Given the description of an element on the screen output the (x, y) to click on. 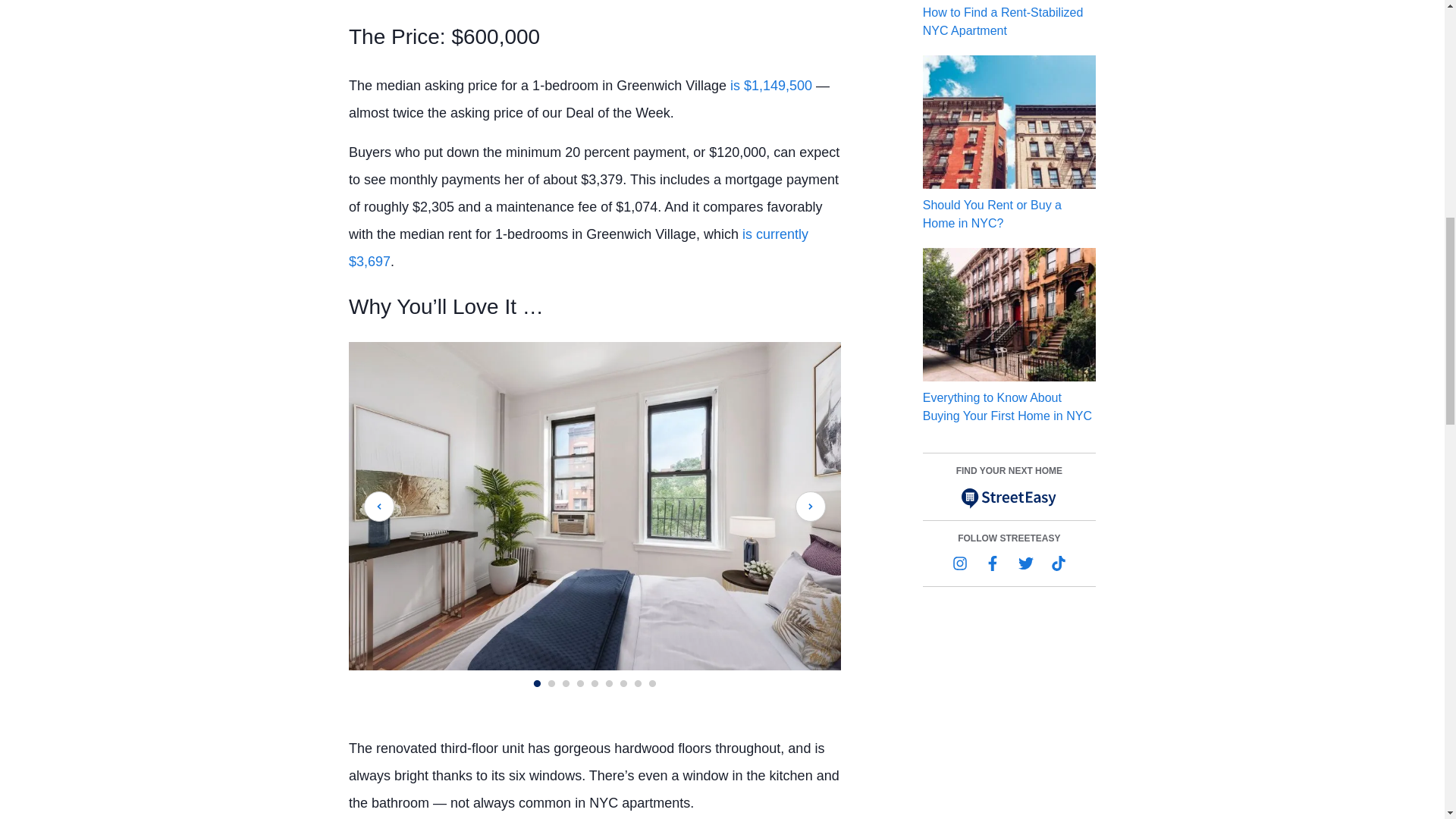
Instagram (960, 563)
Streeteasy (1008, 497)
TikTok (1058, 563)
Twitter (1025, 563)
Facebook (992, 563)
